Given the description of an element on the screen output the (x, y) to click on. 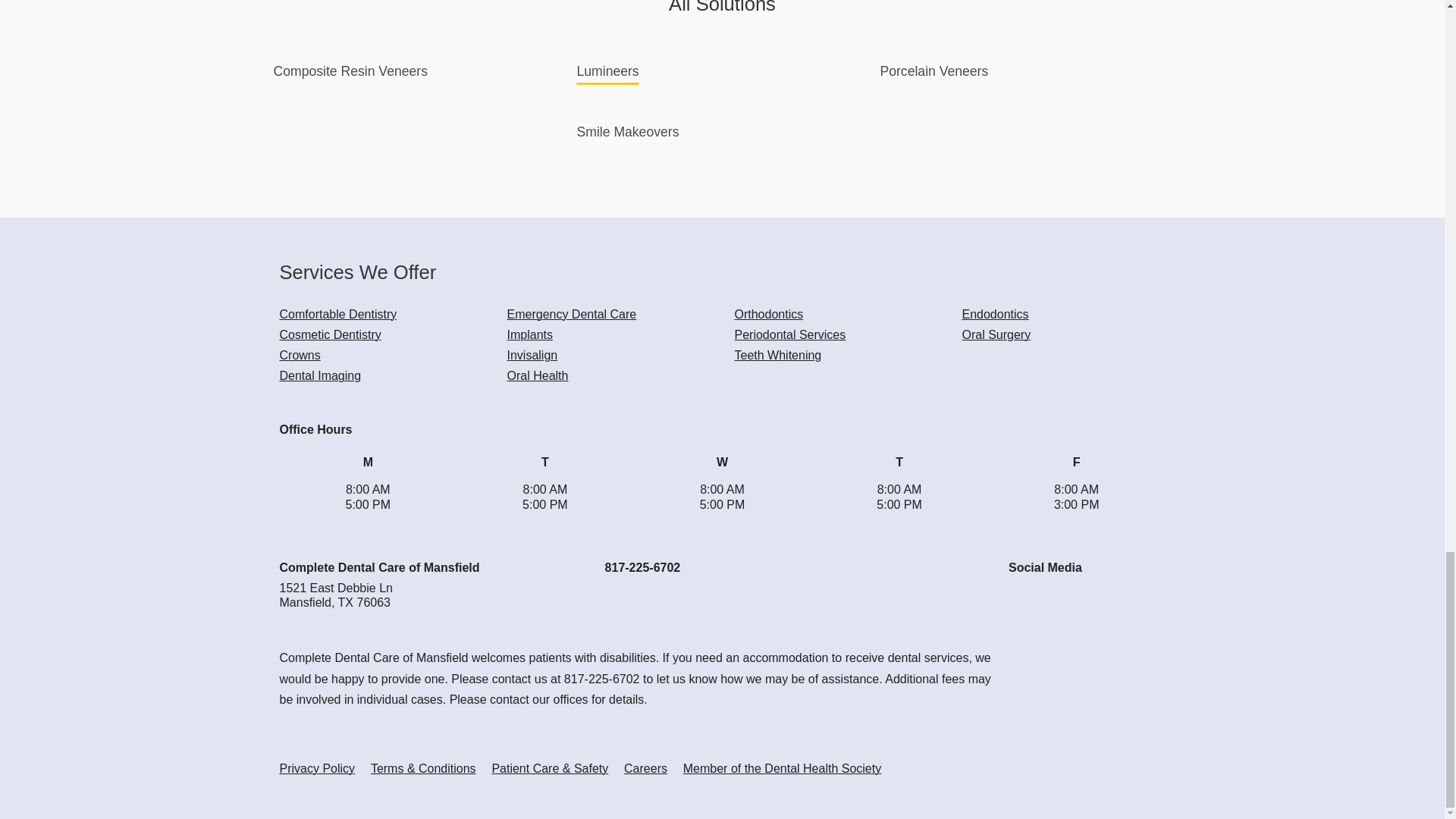
Teeth Whitening (777, 354)
Composite Resin Veneers (350, 70)
Emergency Dental Care (571, 313)
Invisalign (531, 354)
Orthodontics (768, 313)
Comfortable Dentistry (337, 313)
817-225-6702 (643, 567)
Porcelain Veneers (933, 70)
Smile Makeovers (627, 131)
Privacy Policy (317, 768)
Facebook (1020, 600)
Cosmetic Dentistry (329, 334)
Endodontics (993, 313)
Oral Surgery (995, 334)
Lumineers (607, 70)
